Given the description of an element on the screen output the (x, y) to click on. 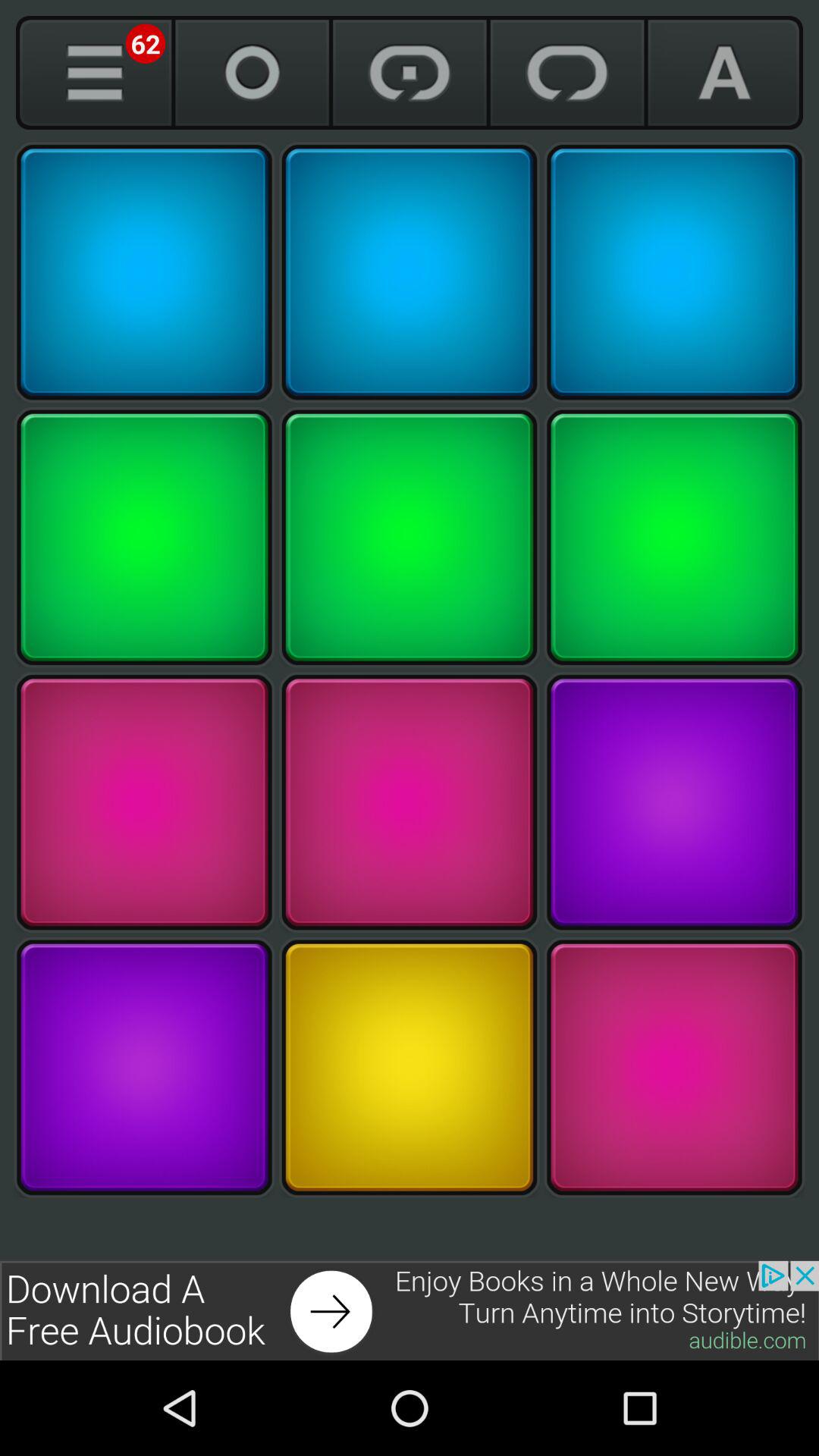
click the grid (409, 1067)
